Given the description of an element on the screen output the (x, y) to click on. 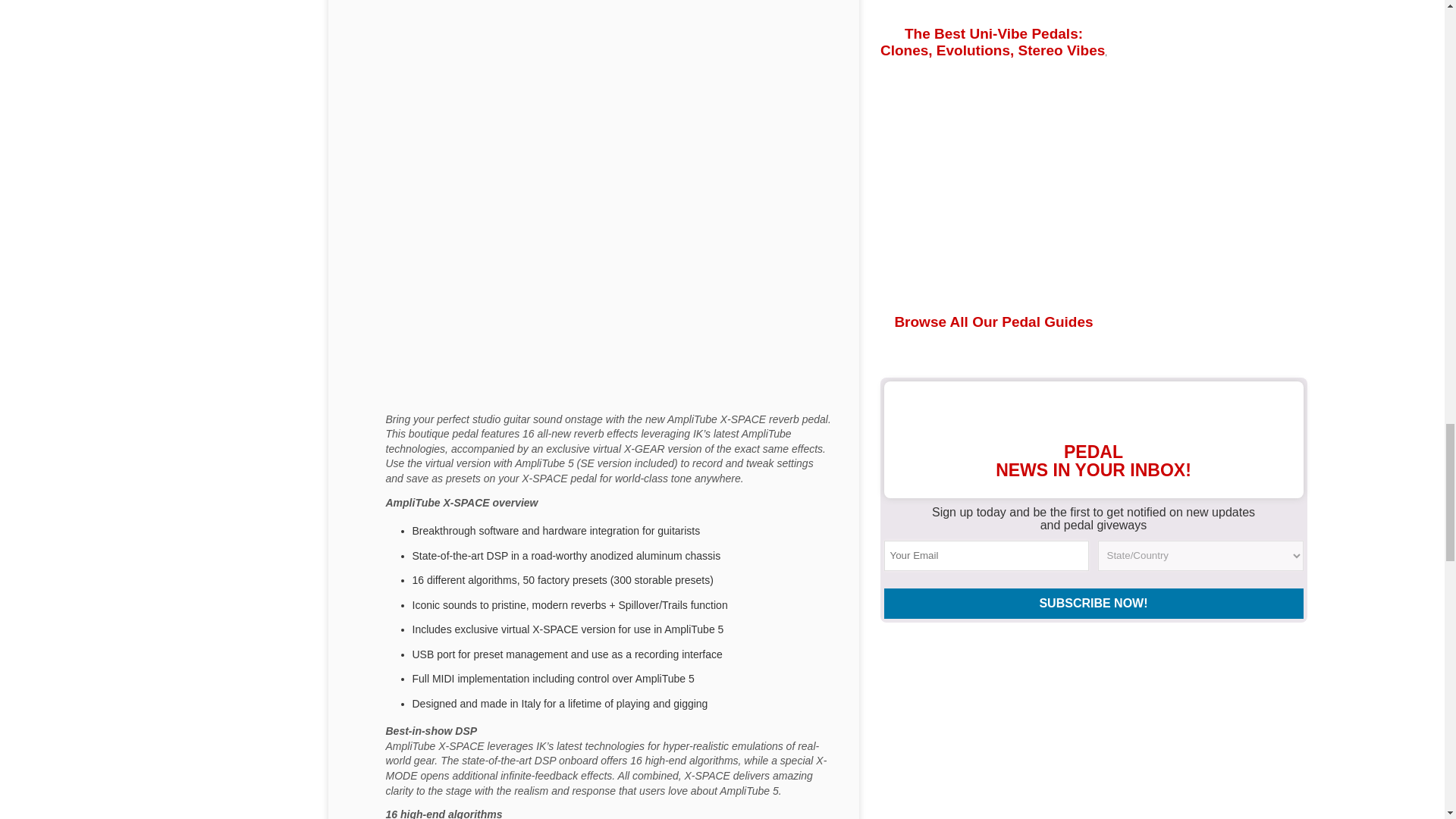
SUBSCRIBE NOW! (1093, 603)
